Given the description of an element on the screen output the (x, y) to click on. 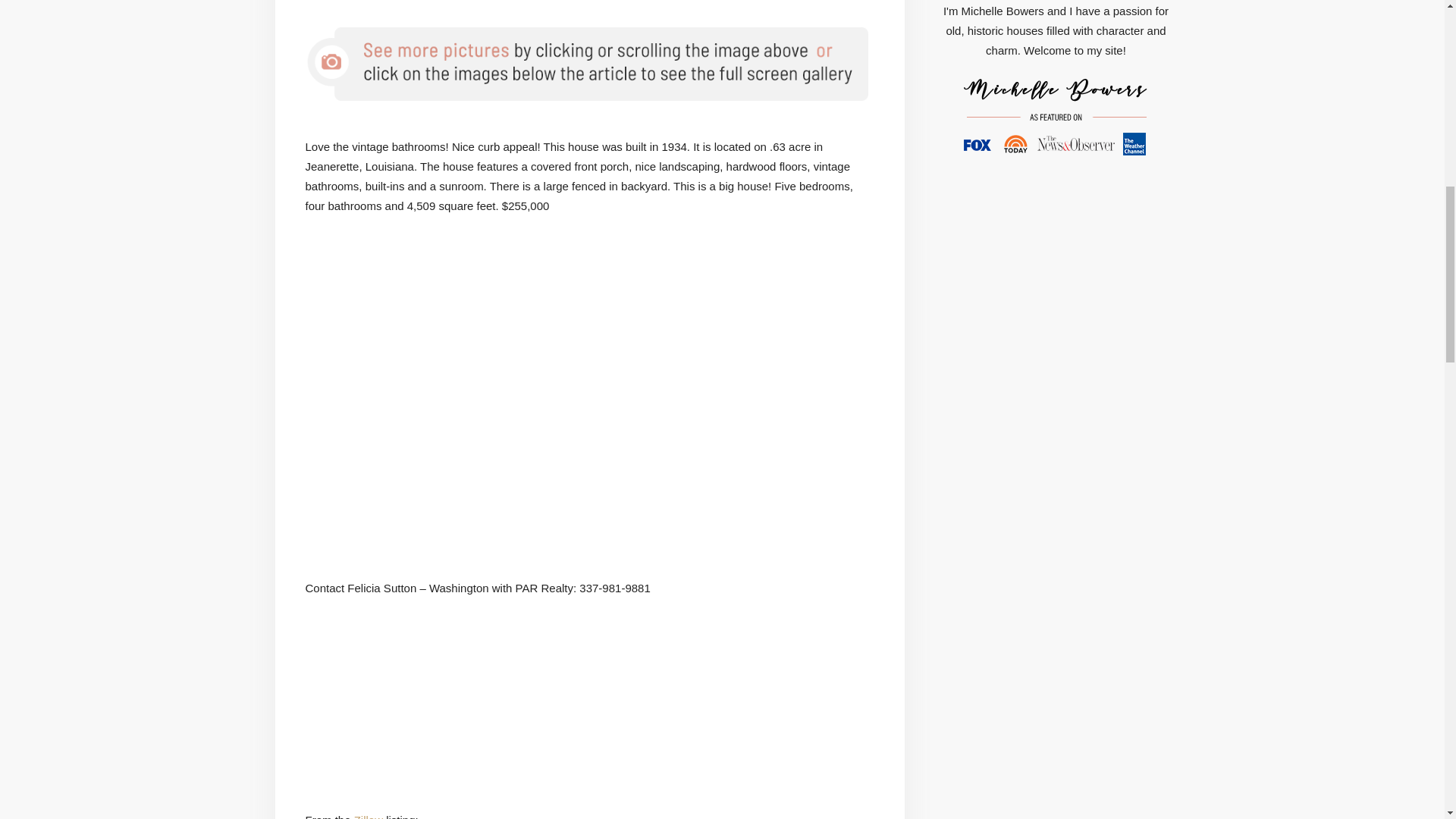
Zillow (367, 816)
